Given the description of an element on the screen output the (x, y) to click on. 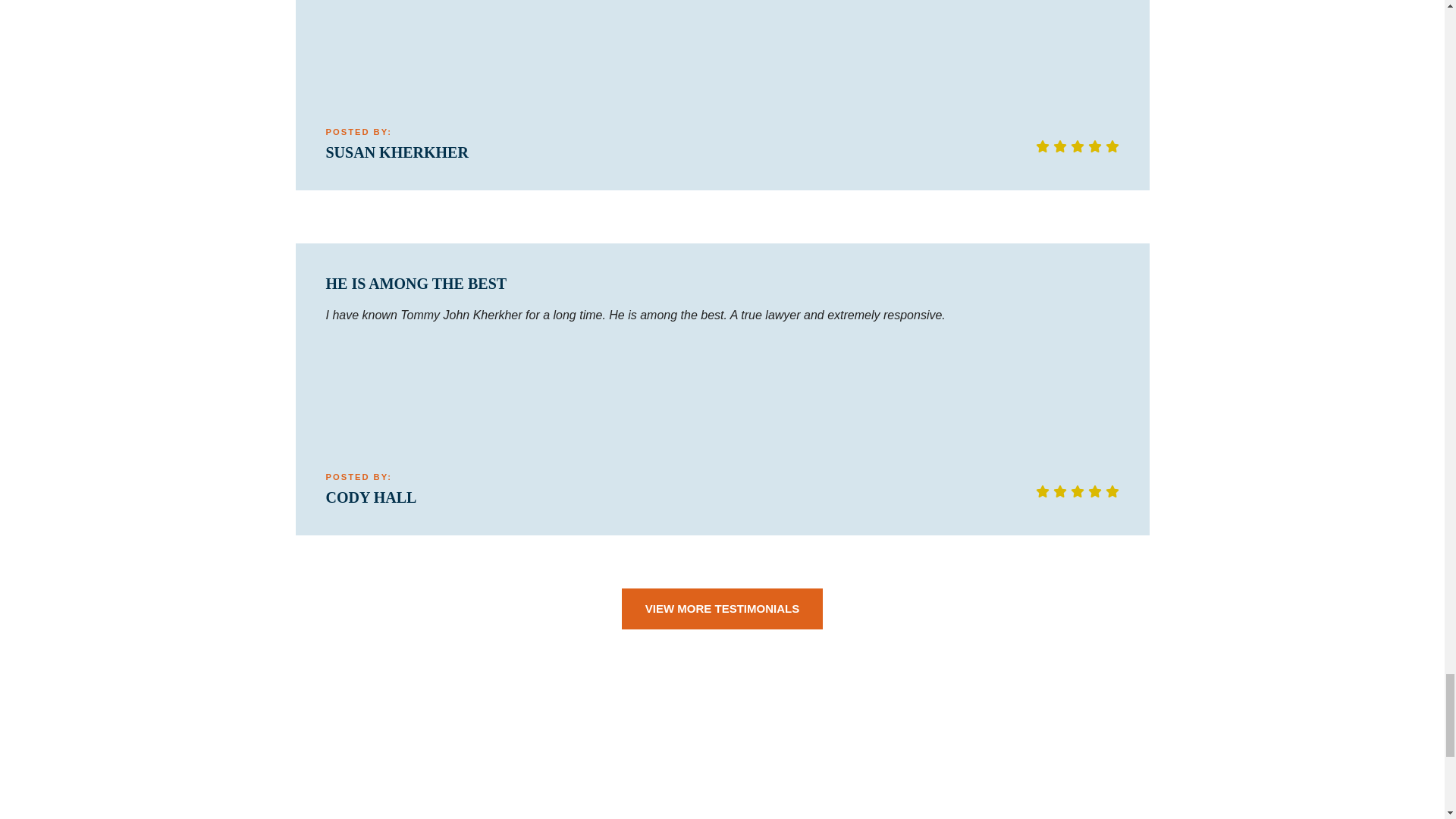
VIEW MORE TESTIMONIALS (721, 608)
